Given the description of an element on the screen output the (x, y) to click on. 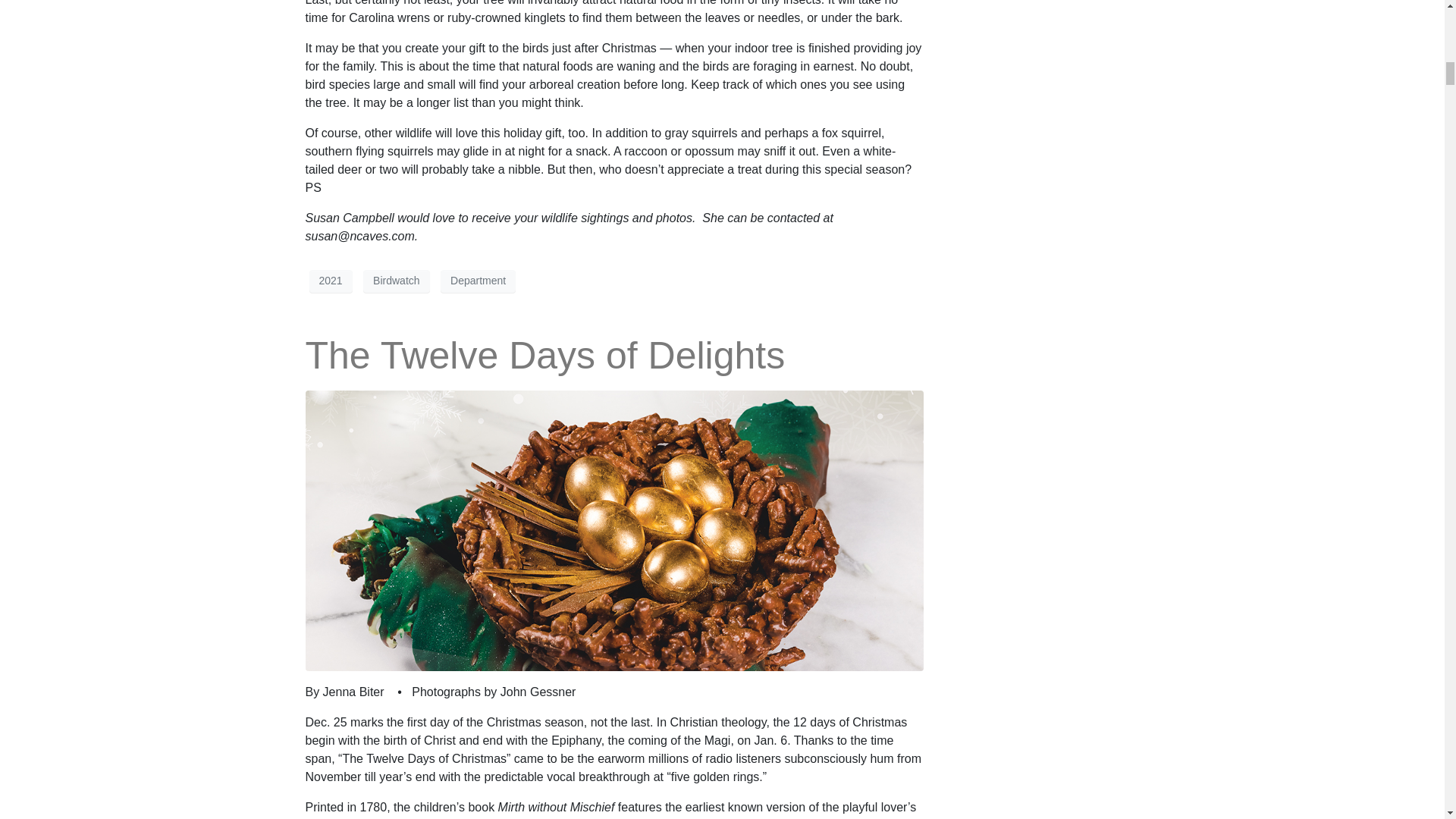
2021 (330, 281)
The Twelve Days of Delights (544, 355)
Birdwatch (395, 281)
Department (478, 281)
The Twelve Days of Delights (613, 529)
